Given the description of an element on the screen output the (x, y) to click on. 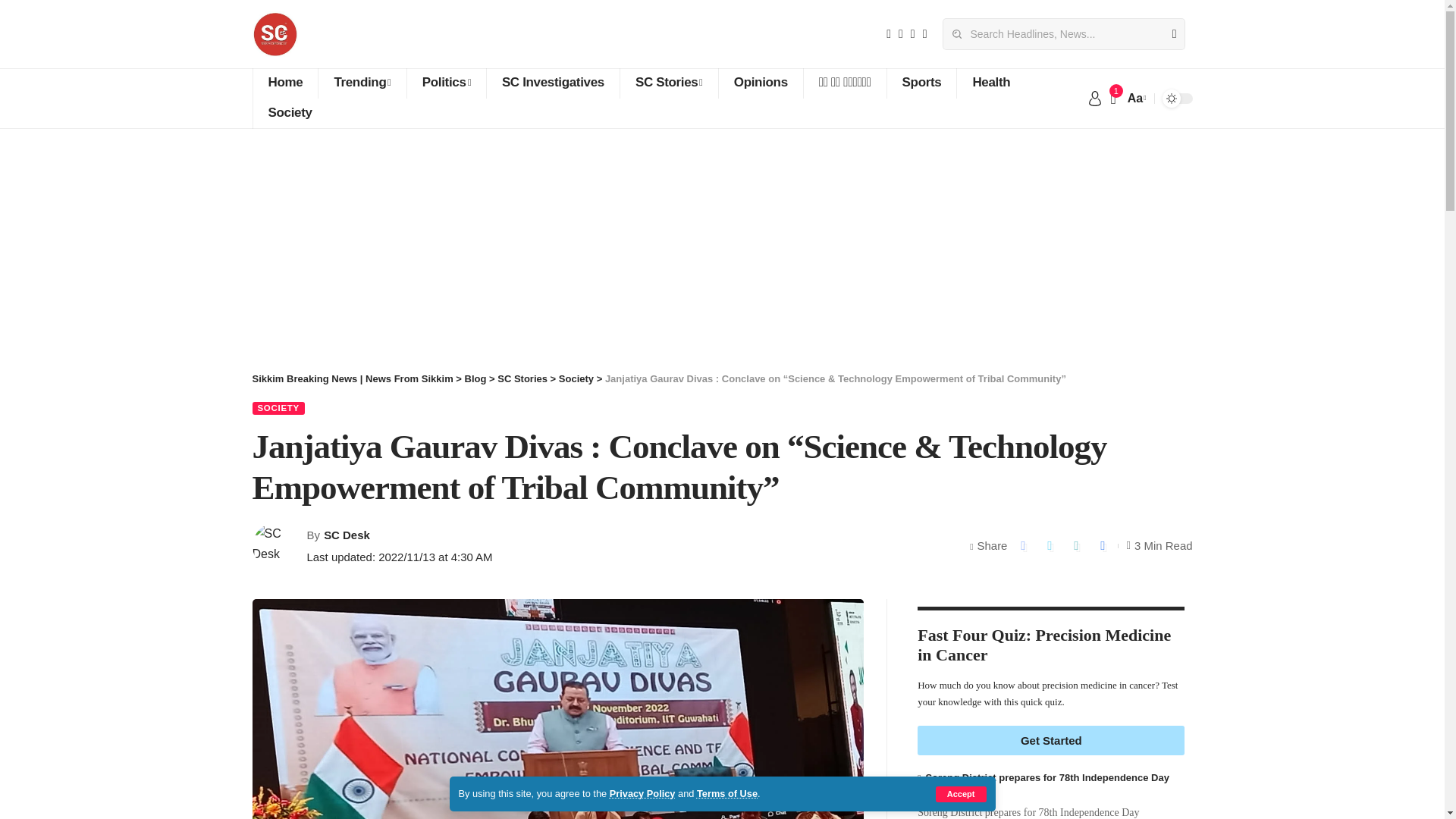
Opinions (760, 82)
Trending (361, 82)
Privacy Policy (642, 793)
Aa (1135, 97)
SC Investigatives (553, 82)
Society (288, 113)
Terms of Use (727, 793)
Accept (961, 794)
SC Stories (668, 82)
Go to the Society Category archives. (576, 378)
Go to Blog. (475, 378)
Go to the SC Stories Category archives. (522, 378)
Health (990, 82)
Home (284, 82)
